Given the description of an element on the screen output the (x, y) to click on. 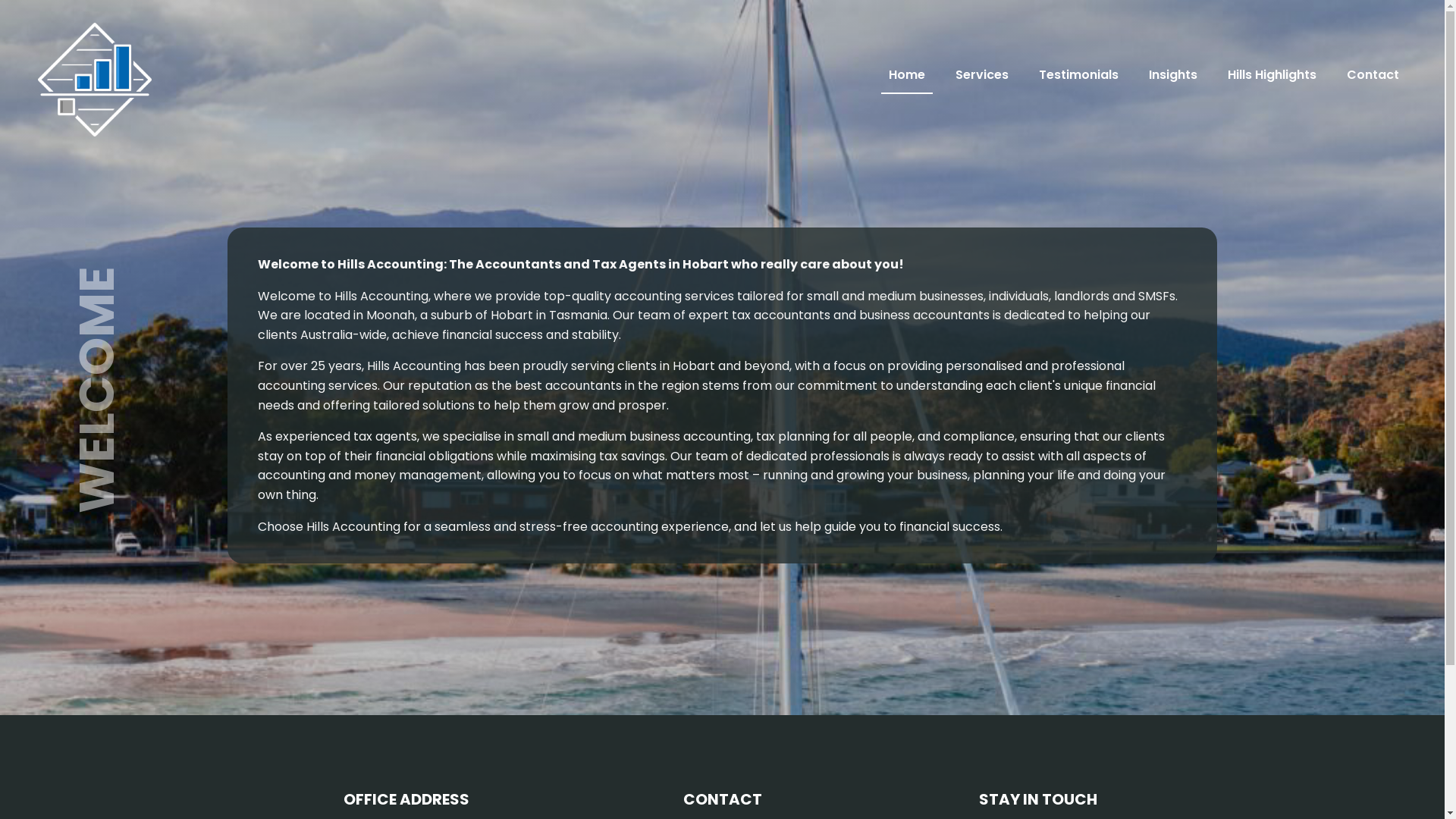
Home Element type: text (906, 79)
Contact Element type: text (1372, 79)
Testimonials Element type: text (1078, 79)
Hills Highlights Element type: text (1272, 79)
Services Element type: text (981, 79)
Insights Element type: text (1172, 79)
